Given the description of an element on the screen output the (x, y) to click on. 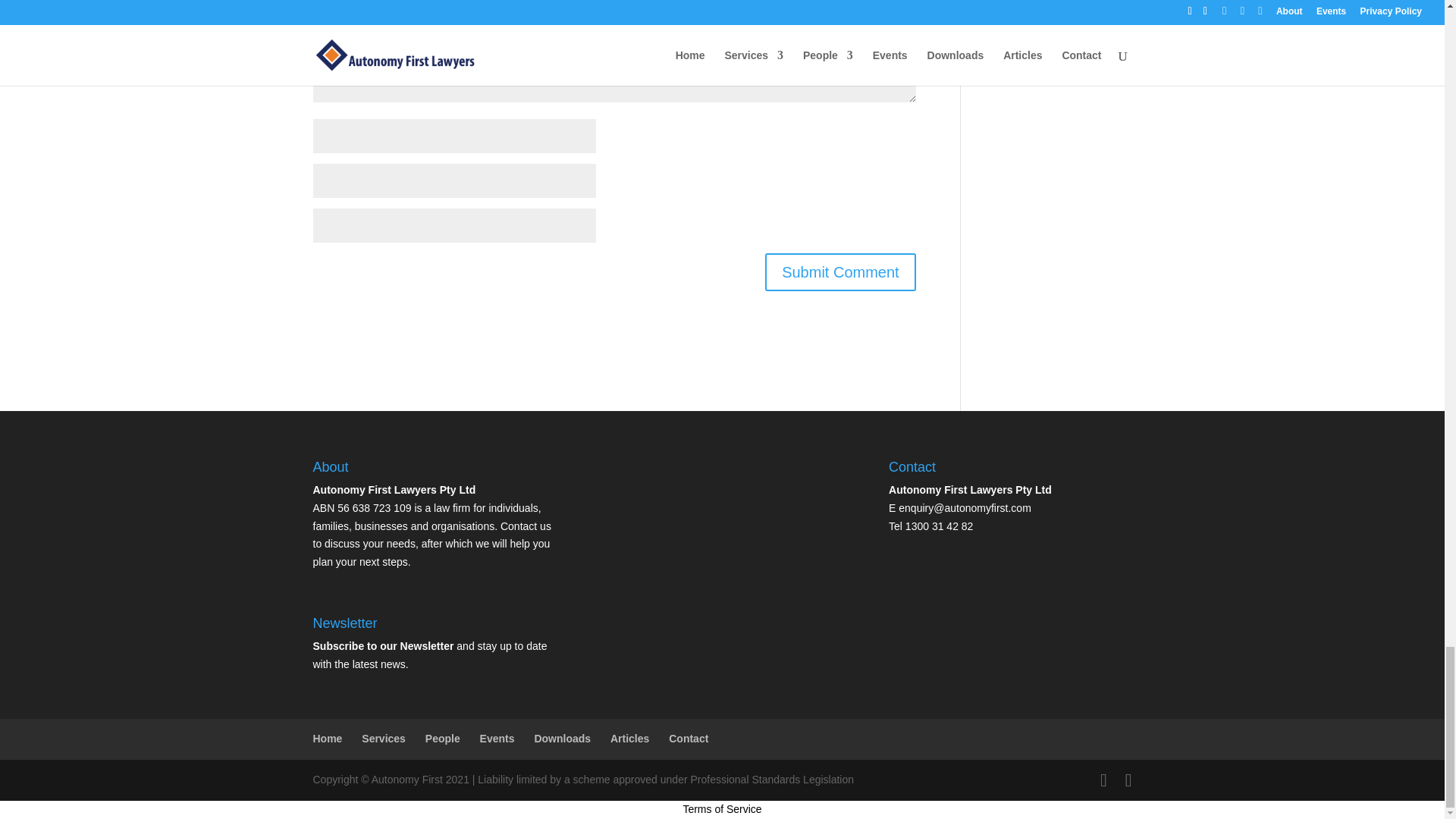
Submit Comment (840, 272)
